Given the description of an element on the screen output the (x, y) to click on. 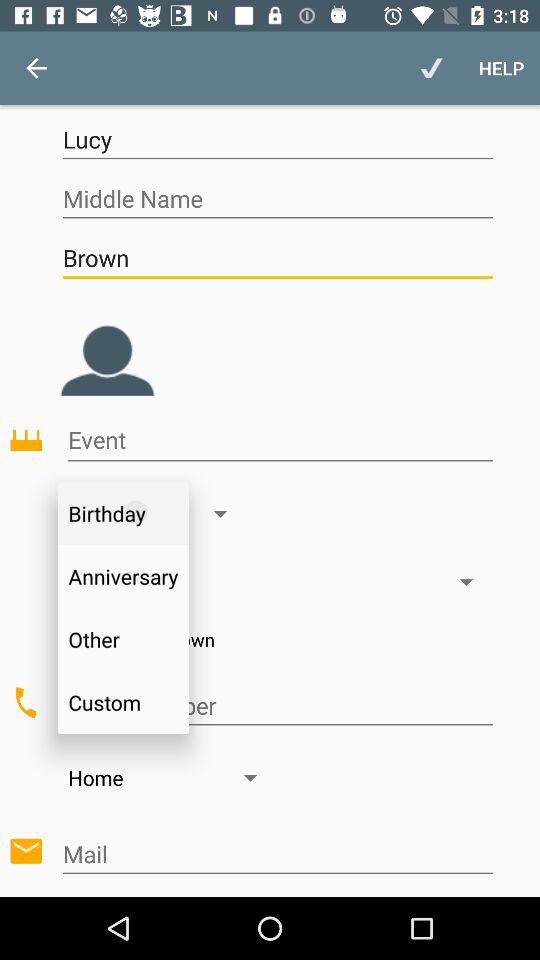
choose brown icon (277, 258)
